Given the description of an element on the screen output the (x, y) to click on. 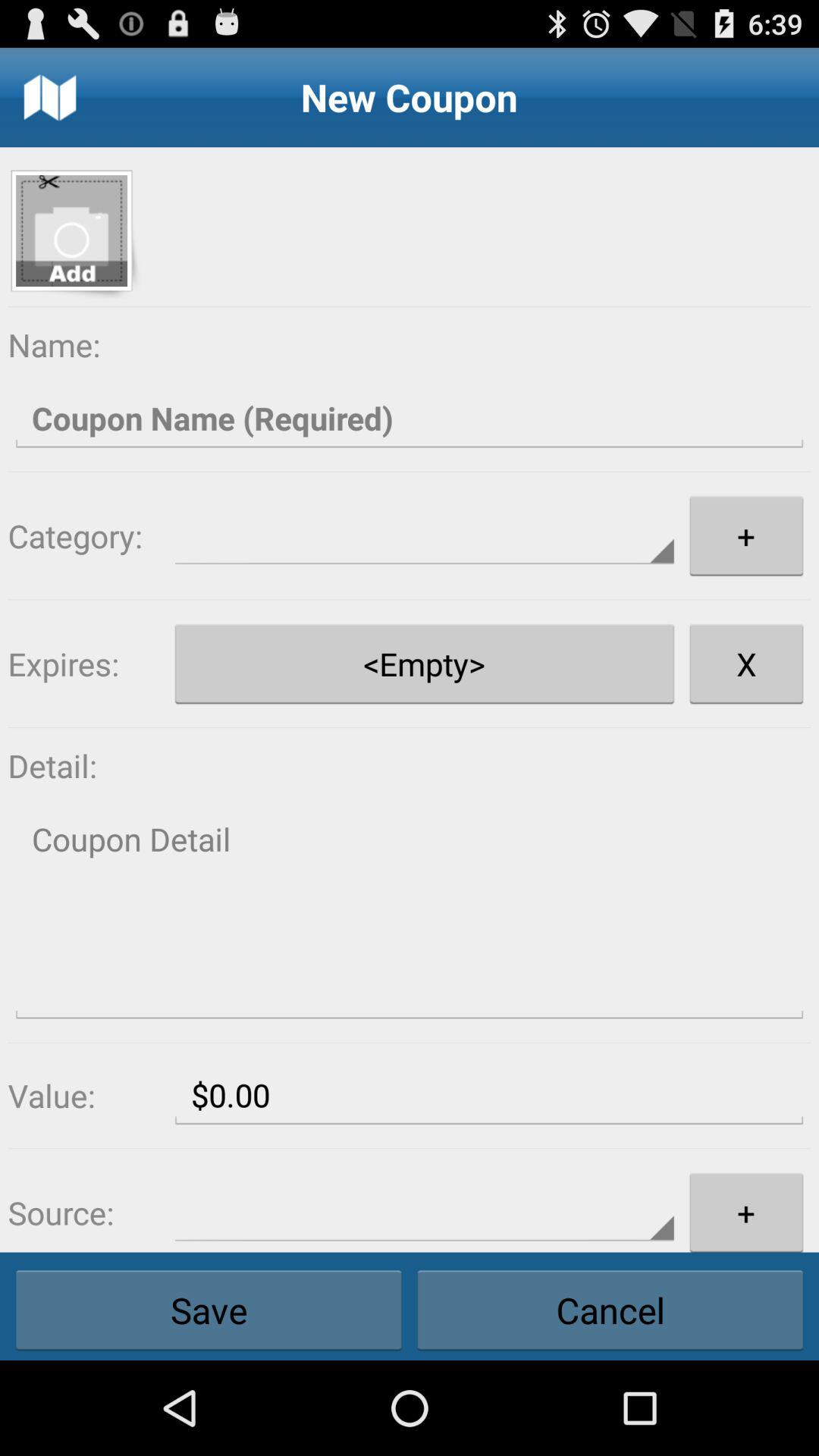
add details (409, 914)
